Given the description of an element on the screen output the (x, y) to click on. 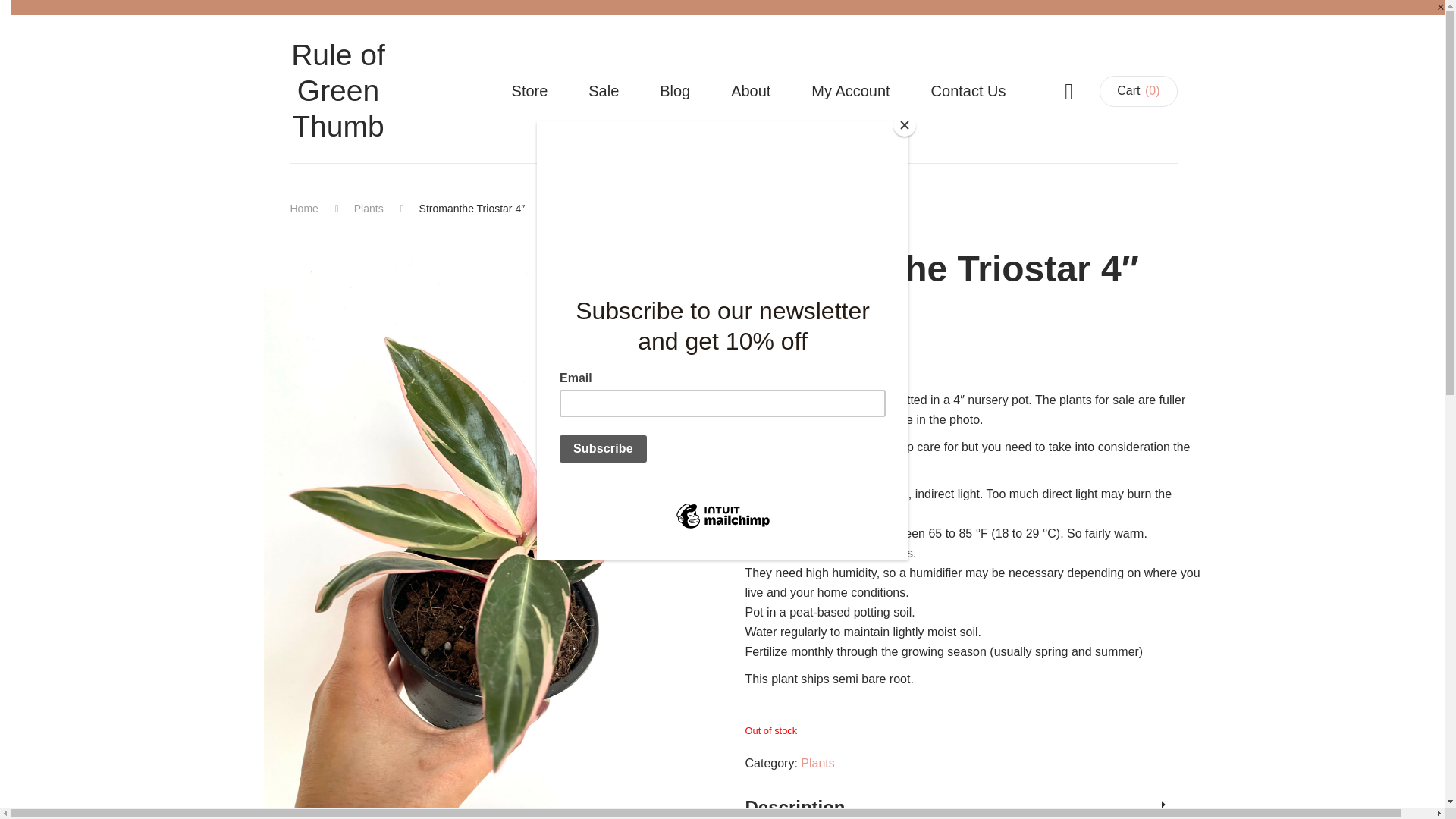
Rule of Green Thumb (337, 90)
Plants (368, 208)
View your shopping cart (1137, 91)
Contact Us (968, 90)
About (750, 90)
My Account (850, 90)
Plants (817, 762)
Store (529, 90)
Home (303, 208)
